Given the description of an element on the screen output the (x, y) to click on. 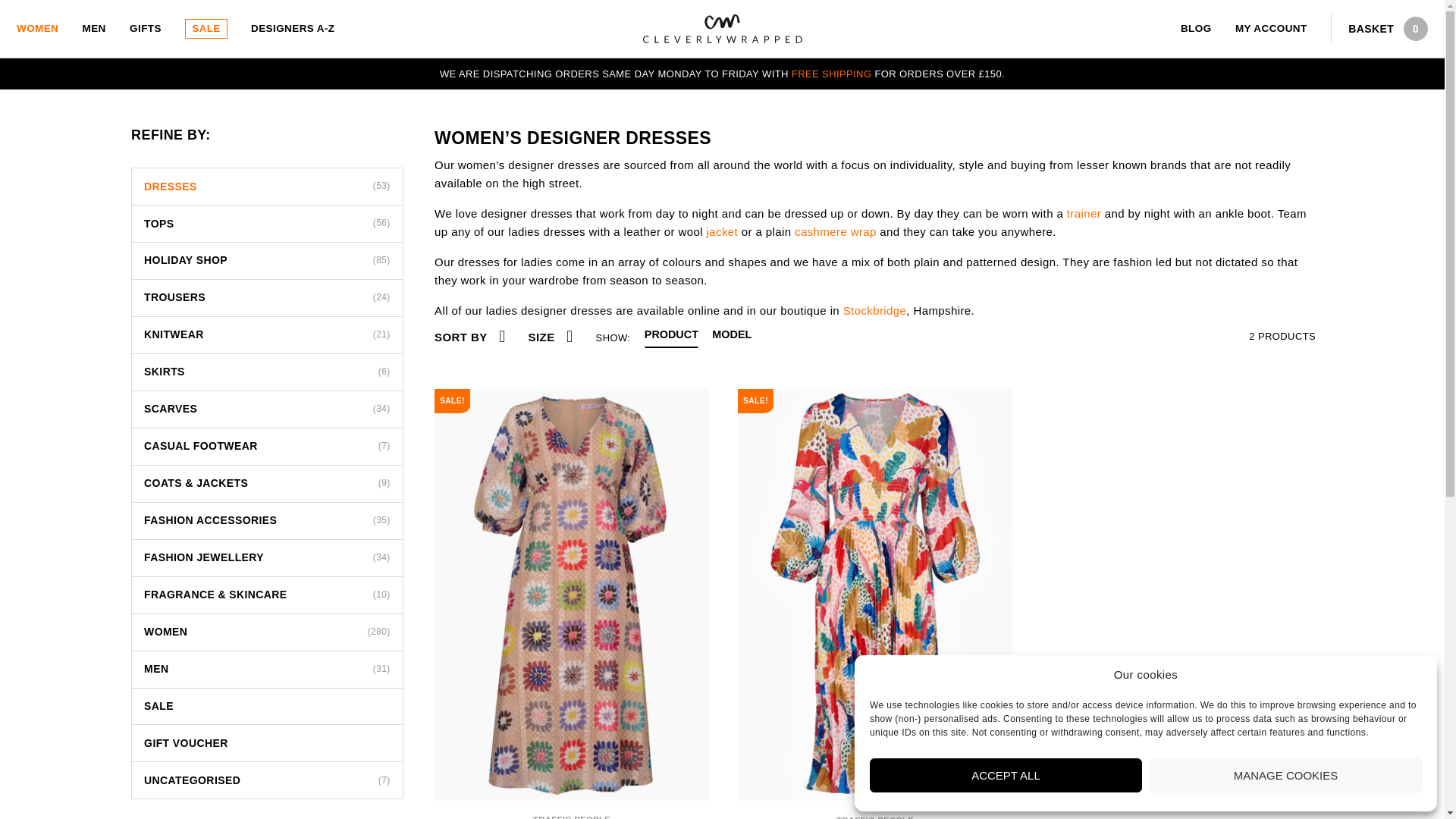
WOMEN (37, 28)
View your shopping cart (1381, 28)
MANAGE COOKIES (1286, 775)
Display model images (731, 338)
Read our guide to Stockbridge (875, 309)
ACCEPT ALL (1005, 775)
Display product images (671, 338)
